Given the description of an element on the screen output the (x, y) to click on. 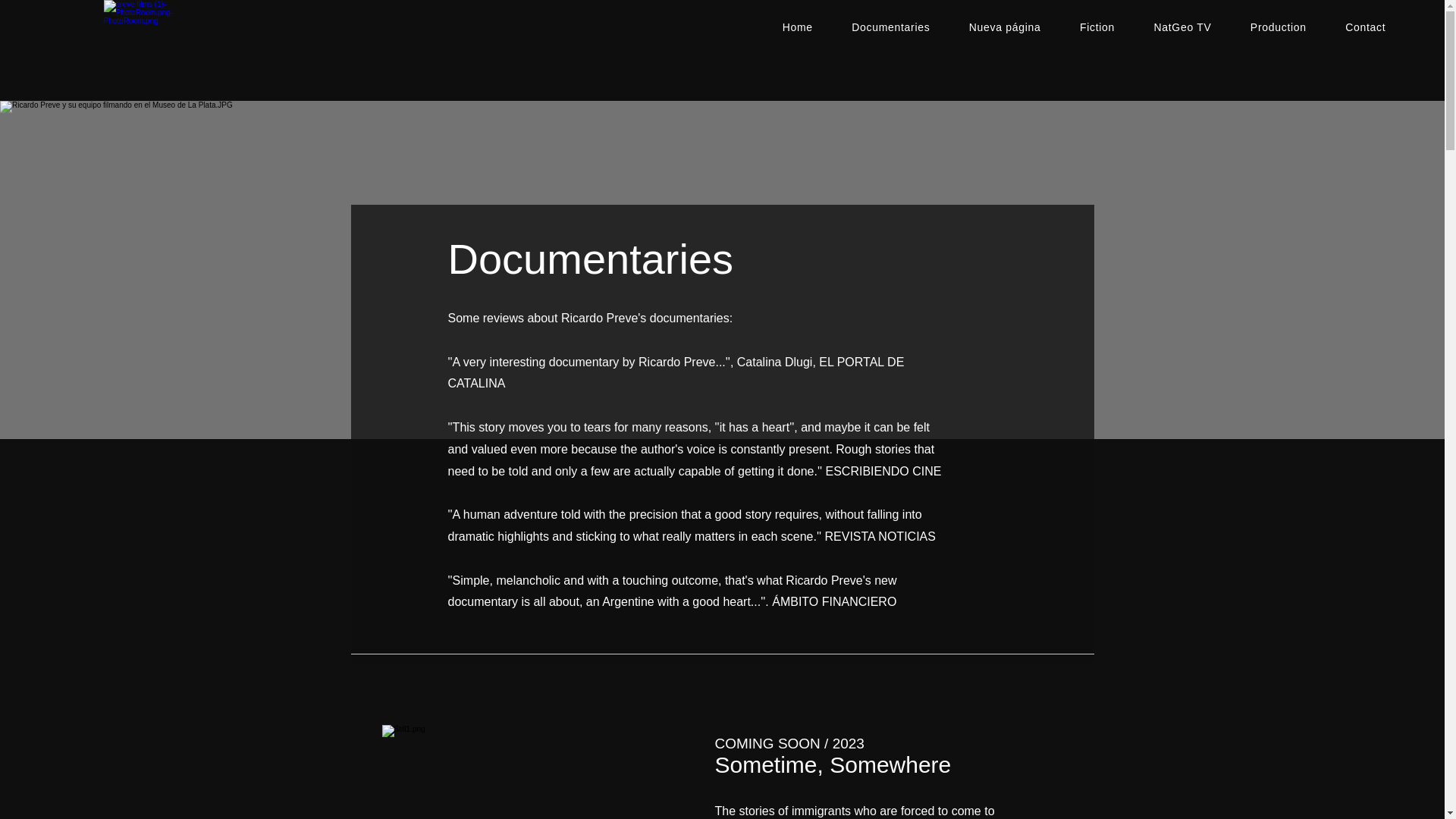
NatGeo TV (1182, 26)
Documentaries (891, 26)
Home (797, 26)
Fiction (1096, 26)
Production (1277, 26)
Contact (1364, 26)
